Given the description of an element on the screen output the (x, y) to click on. 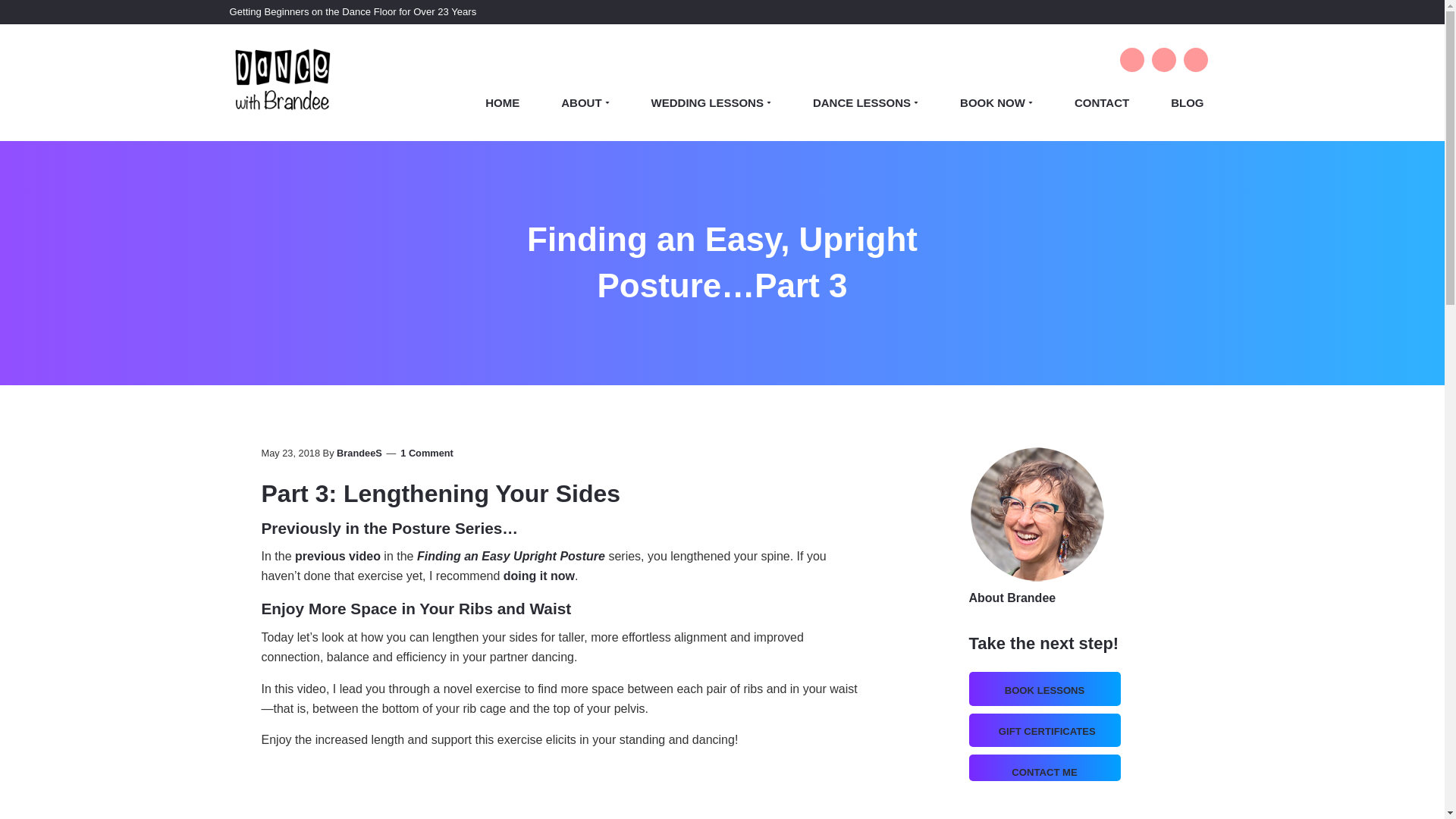
1 Comment (426, 452)
BLOG (1180, 102)
BOOK LESSONS (1044, 690)
Finding an Easy Upright Posture (510, 555)
doing it now (539, 575)
WEDDING LESSONS (711, 102)
BOOK NOW (996, 102)
CONTACT ME (1044, 772)
BrandeeS (358, 452)
ABOUT (585, 102)
